Given the description of an element on the screen output the (x, y) to click on. 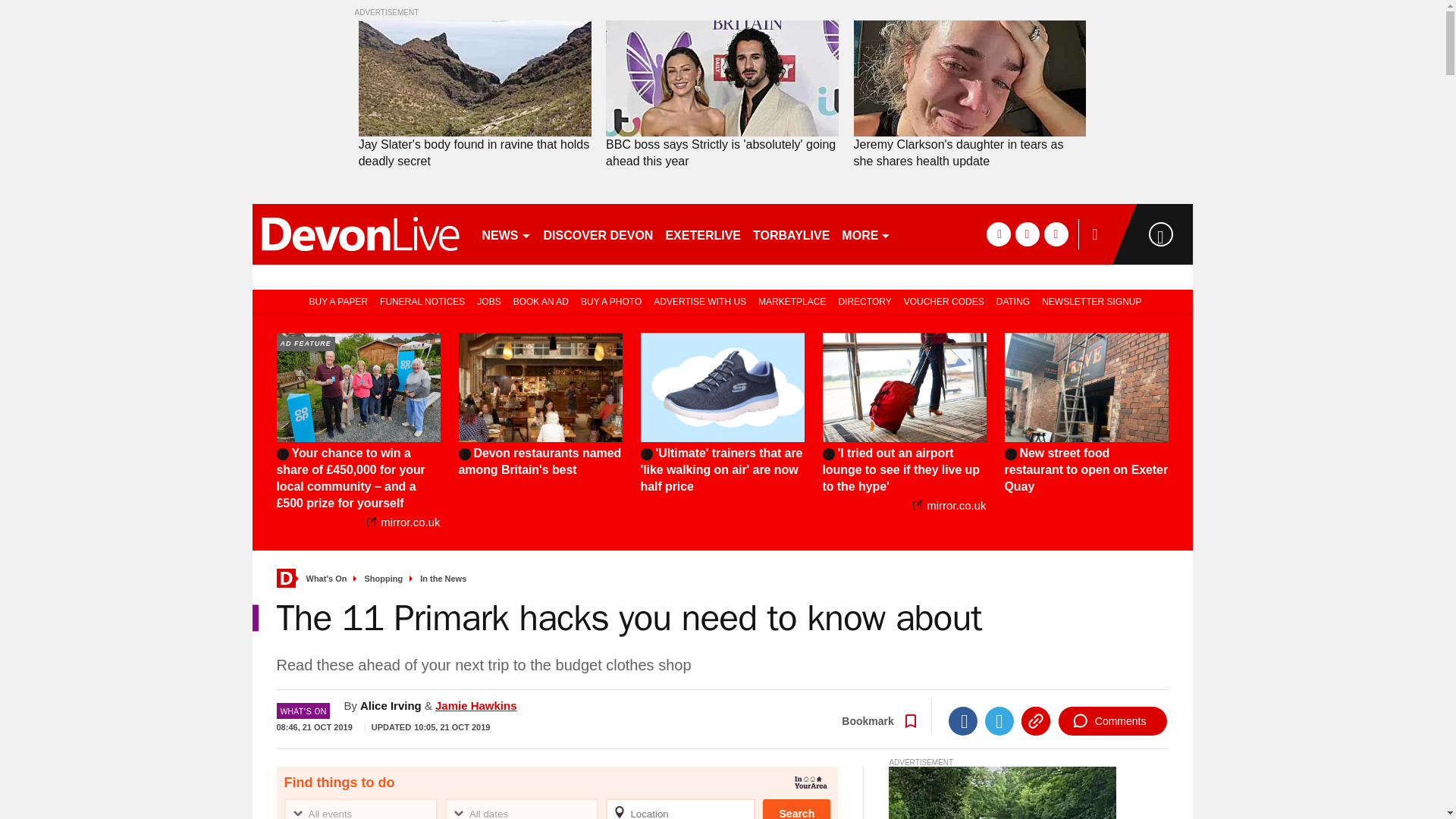
facebook (997, 233)
twitter (1026, 233)
EXETERLIVE (702, 233)
instagram (1055, 233)
BBC boss says Strictly is 'absolutely' going ahead this year (721, 152)
Twitter (999, 720)
Facebook (962, 720)
DISCOVER DEVON (598, 233)
Jay Slater's body found in ravine that holds deadly secret (474, 152)
BBC boss says Strictly is 'absolutely' going ahead this year (721, 78)
BBC boss says Strictly is 'absolutely' going ahead this year (721, 152)
NEWS (506, 233)
TORBAYLIVE (790, 233)
